Given the description of an element on the screen output the (x, y) to click on. 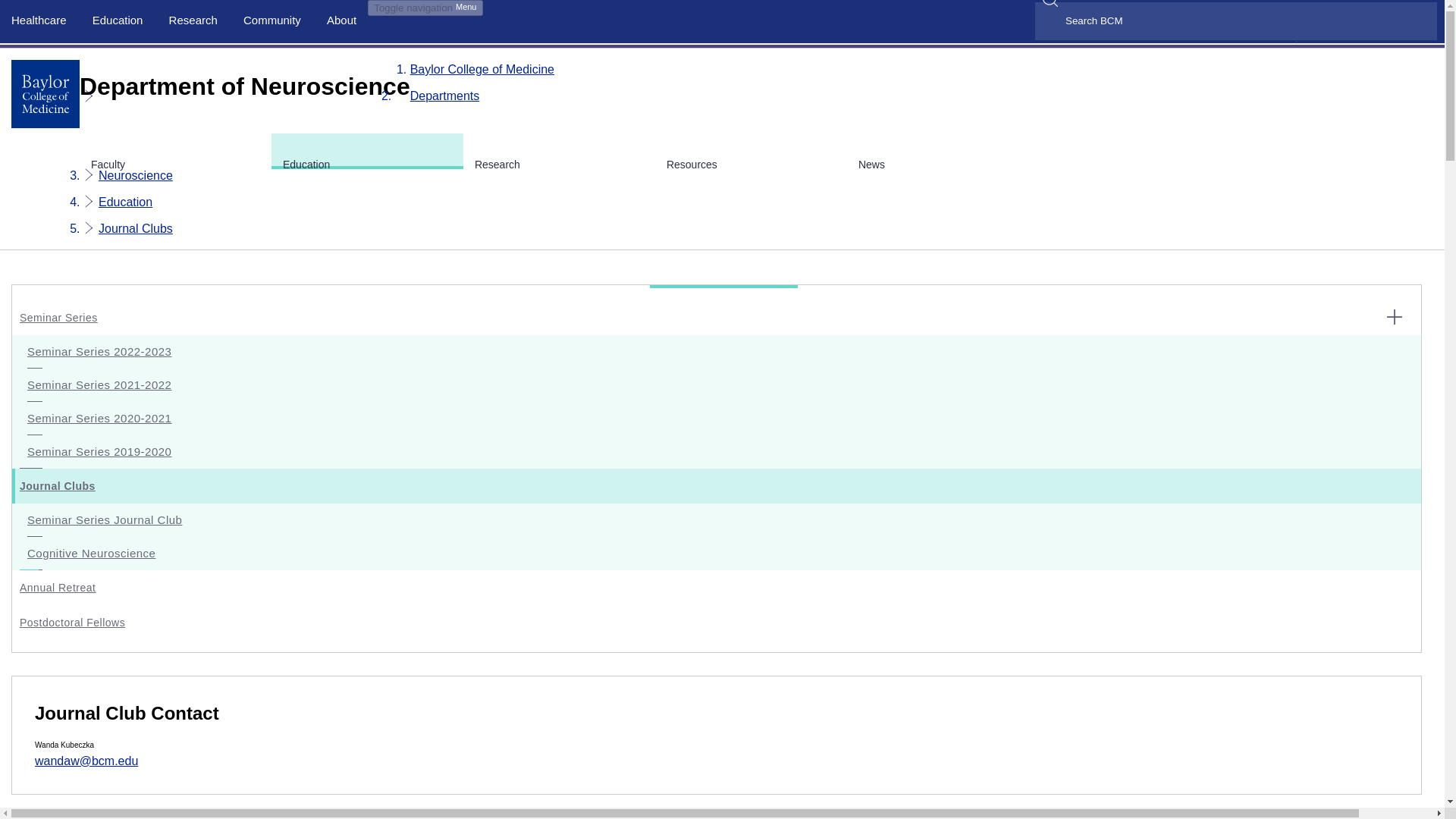
Education (117, 19)
Neuroscience (136, 174)
Journal Clubs (136, 228)
Baylor College of Medicine (482, 69)
Education (125, 201)
Healthcare (38, 19)
Departments (445, 95)
